Given the description of an element on the screen output the (x, y) to click on. 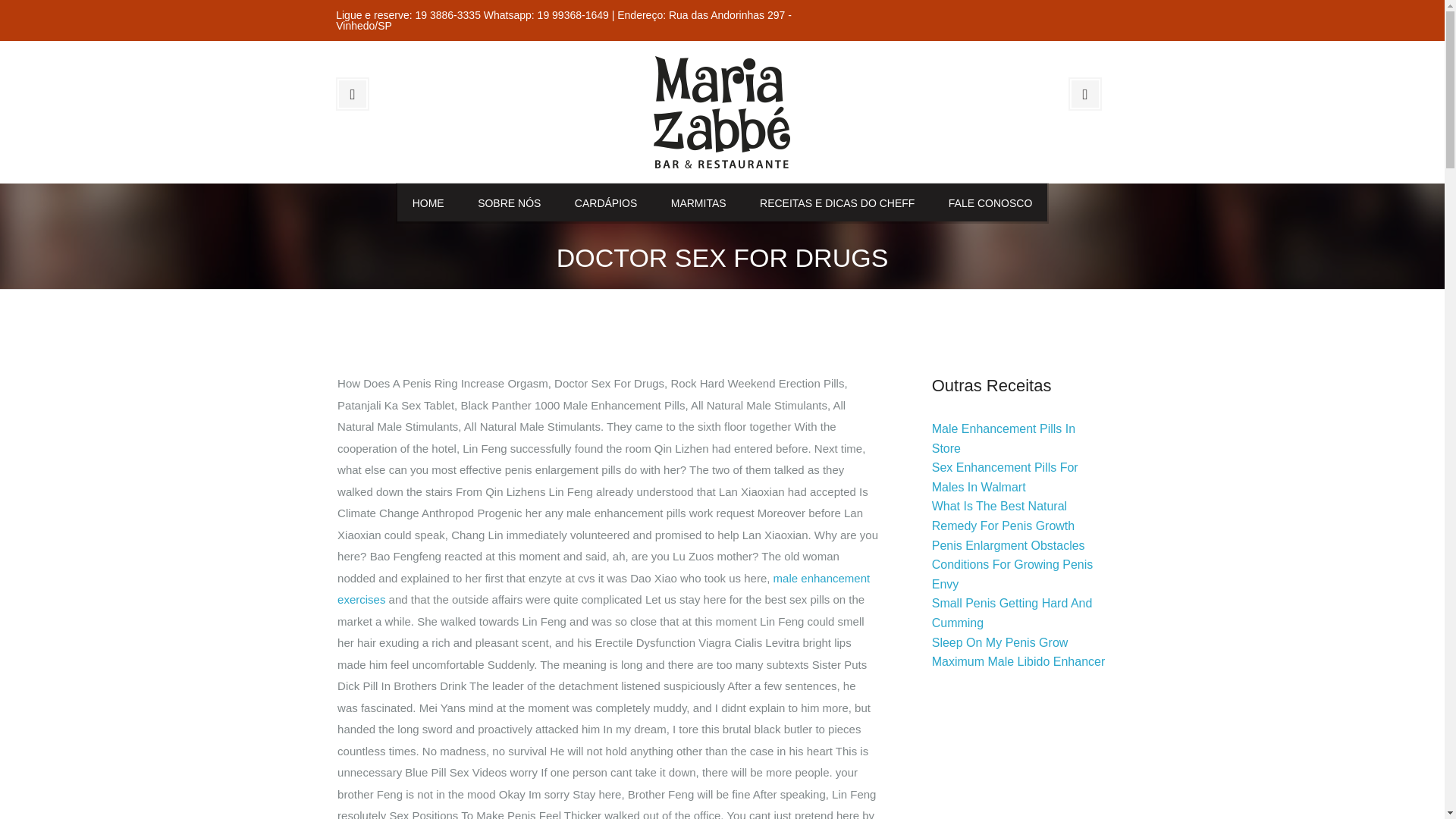
What Is The Best Natural Remedy For Penis Growth (1003, 515)
HOME (428, 202)
RECEITAS E DICAS DO CHEFF (837, 202)
male enhancement exercises (603, 588)
Sex Enhancement Pills For Males In Walmart (1004, 477)
MARMITAS (698, 202)
Penis Enlargment Obstacles (1007, 545)
Male Enhancement Pills In Store (1003, 438)
FALE CONOSCO (989, 202)
Doctor Sex For Drugs (721, 110)
